Given the description of an element on the screen output the (x, y) to click on. 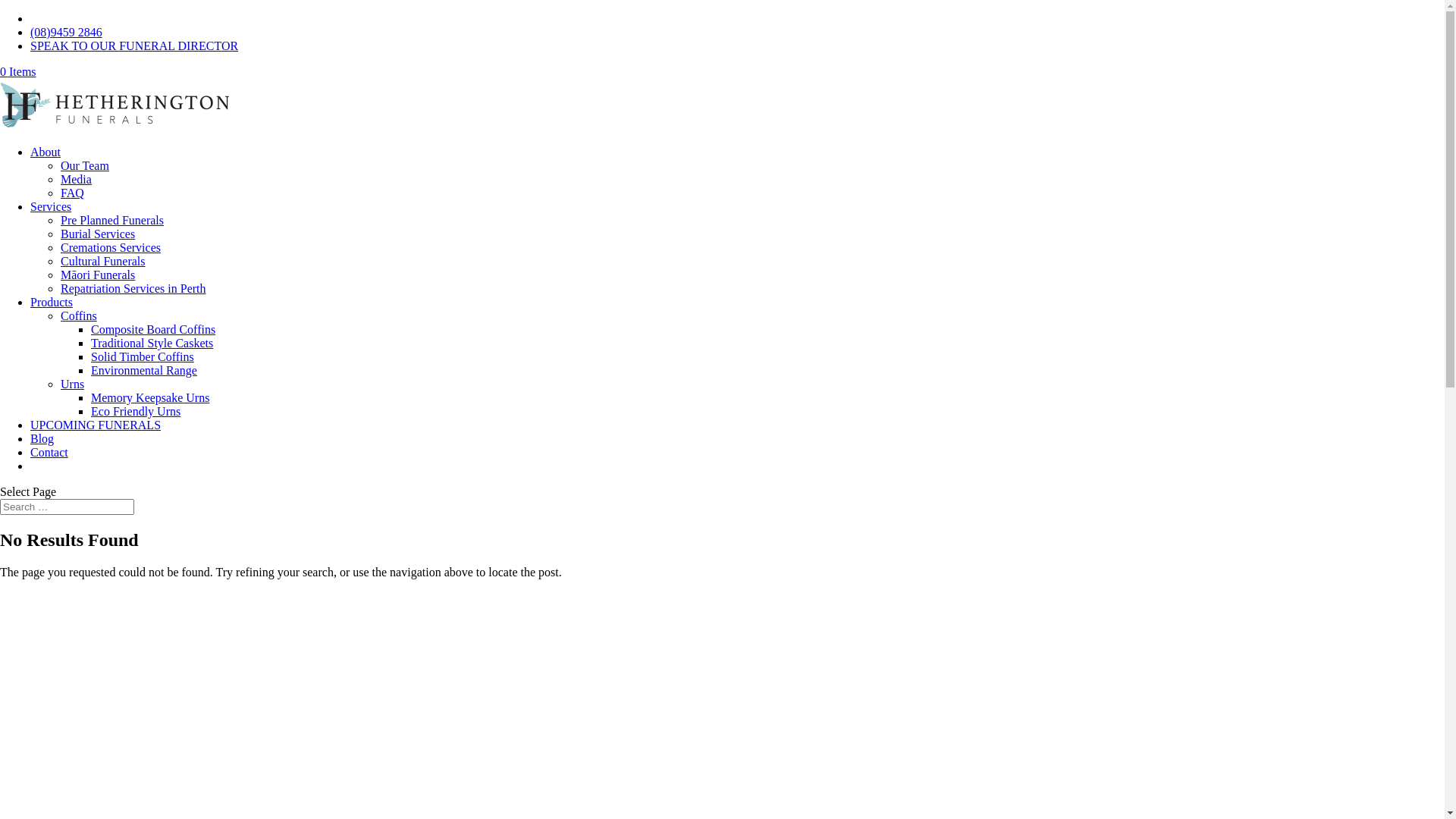
Burial Services Element type: text (97, 233)
Solid Timber Coffins Element type: text (142, 356)
About Element type: text (45, 151)
Environmental Range Element type: text (144, 370)
(08)9459 2846 Element type: text (66, 31)
Cremations Services Element type: text (110, 247)
SPEAK TO OUR FUNERAL DIRECTOR Element type: text (134, 45)
Our Team Element type: text (84, 165)
Contact Element type: text (49, 451)
Media Element type: text (75, 178)
UPCOMING FUNERALS Element type: text (95, 424)
0 Items Element type: text (18, 71)
Cultural Funerals Element type: text (102, 260)
Products Element type: text (51, 301)
Repatriation Services in Perth Element type: text (133, 288)
Eco Friendly Urns Element type: text (135, 410)
Blog Element type: text (41, 438)
Memory Keepsake Urns Element type: text (150, 397)
Search for: Element type: hover (67, 506)
Coffins Element type: text (78, 315)
Composite Board Coffins Element type: text (153, 329)
Traditional Style Caskets Element type: text (152, 342)
Services Element type: text (50, 206)
FAQ Element type: text (72, 192)
Urns Element type: text (72, 383)
Pre Planned Funerals Element type: text (111, 219)
